Given the description of an element on the screen output the (x, y) to click on. 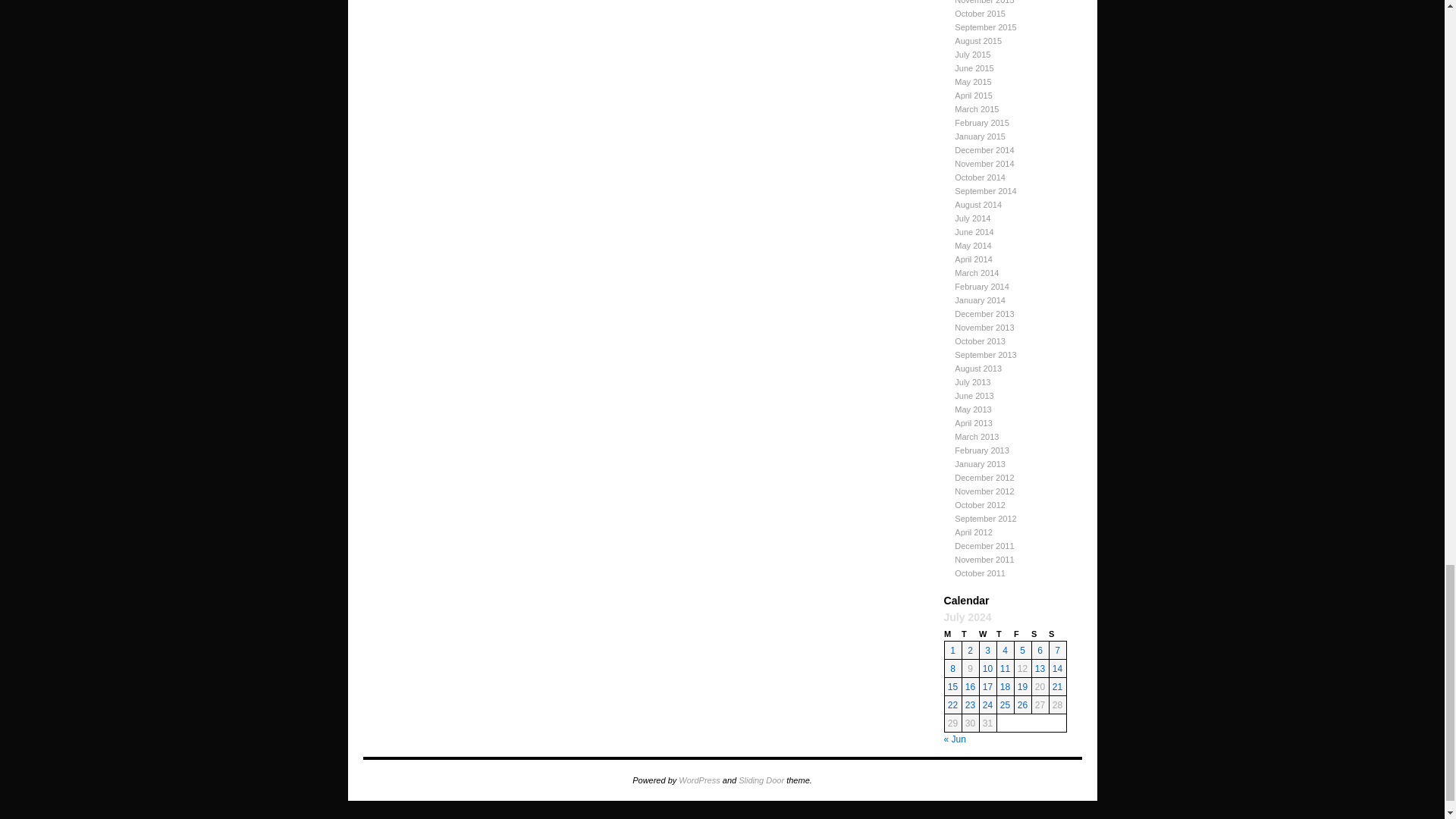
Tuesday (969, 634)
Thursday (1004, 634)
Saturday (1039, 634)
Wednesday (986, 634)
Monday (951, 634)
Friday (1021, 634)
Sunday (1056, 634)
